Given the description of an element on the screen output the (x, y) to click on. 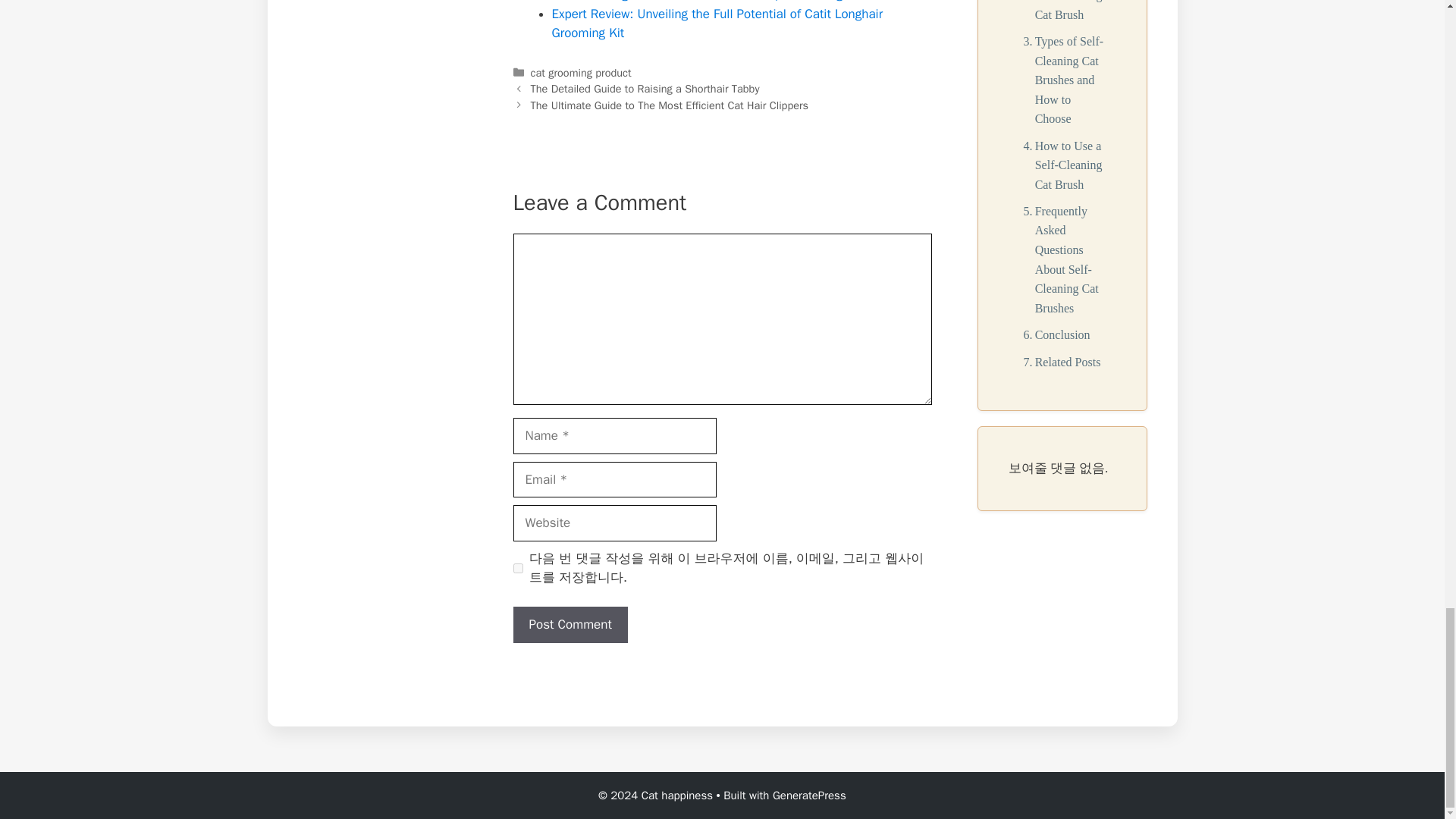
The Ultimate Guide to The Most Efficient Cat Hair Clippers (669, 105)
The Detailed Guide to Raising a Shorthair Tabby (645, 88)
cat grooming product (581, 72)
yes (517, 568)
Post Comment (569, 624)
Post Comment (569, 624)
